Given the description of an element on the screen output the (x, y) to click on. 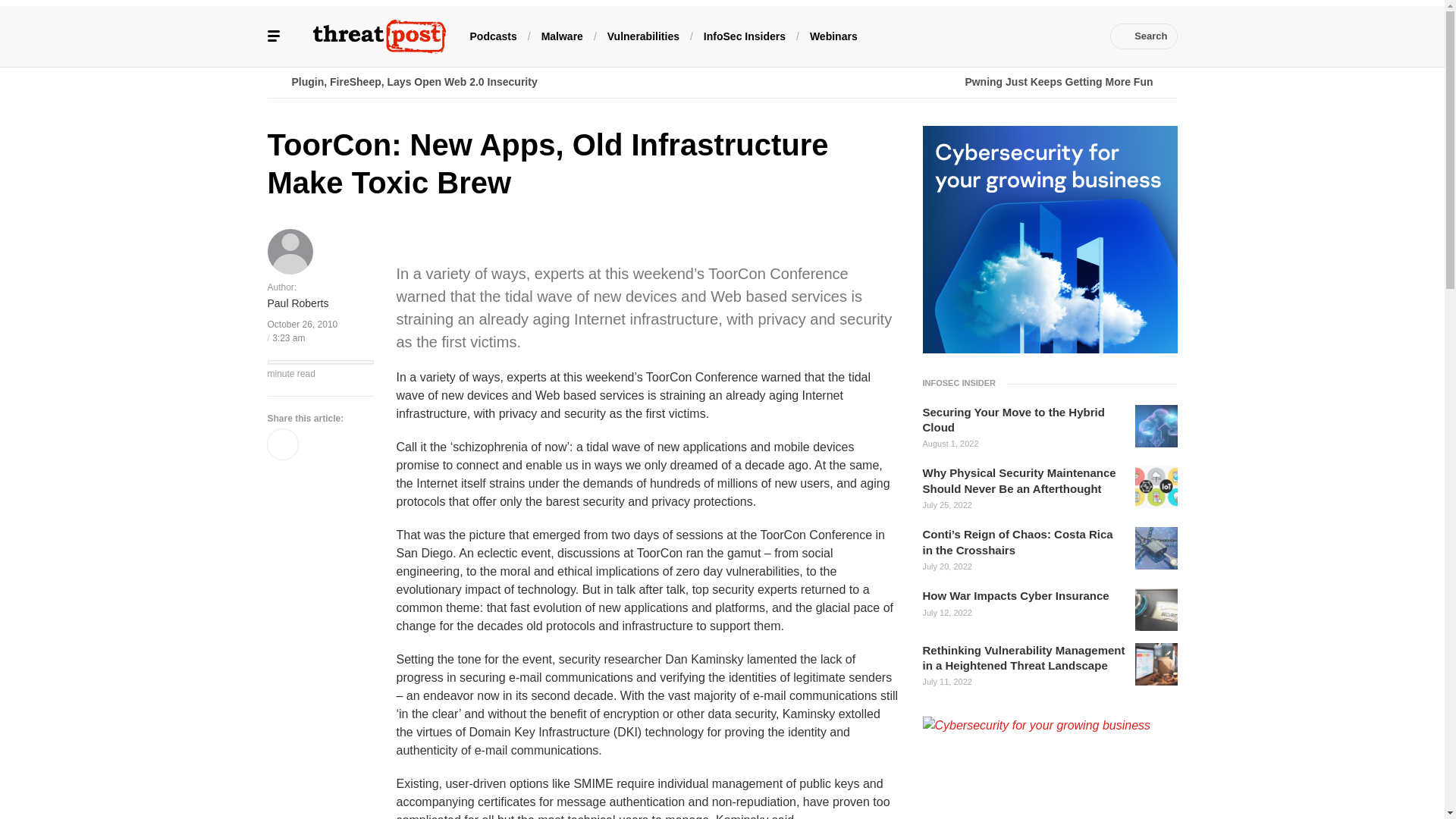
Instagram (1057, 36)
Podcasts (493, 35)
Webinars (833, 35)
Paul Roberts (297, 303)
InfoSec Insiders (744, 35)
Plugin, FireSheep, Lays Open Web 2.0 Insecurity (494, 82)
Search (1143, 36)
Twitter (966, 36)
Securing Your Move to the Hybrid Cloud (1023, 419)
Malware (562, 35)
